Given the description of an element on the screen output the (x, y) to click on. 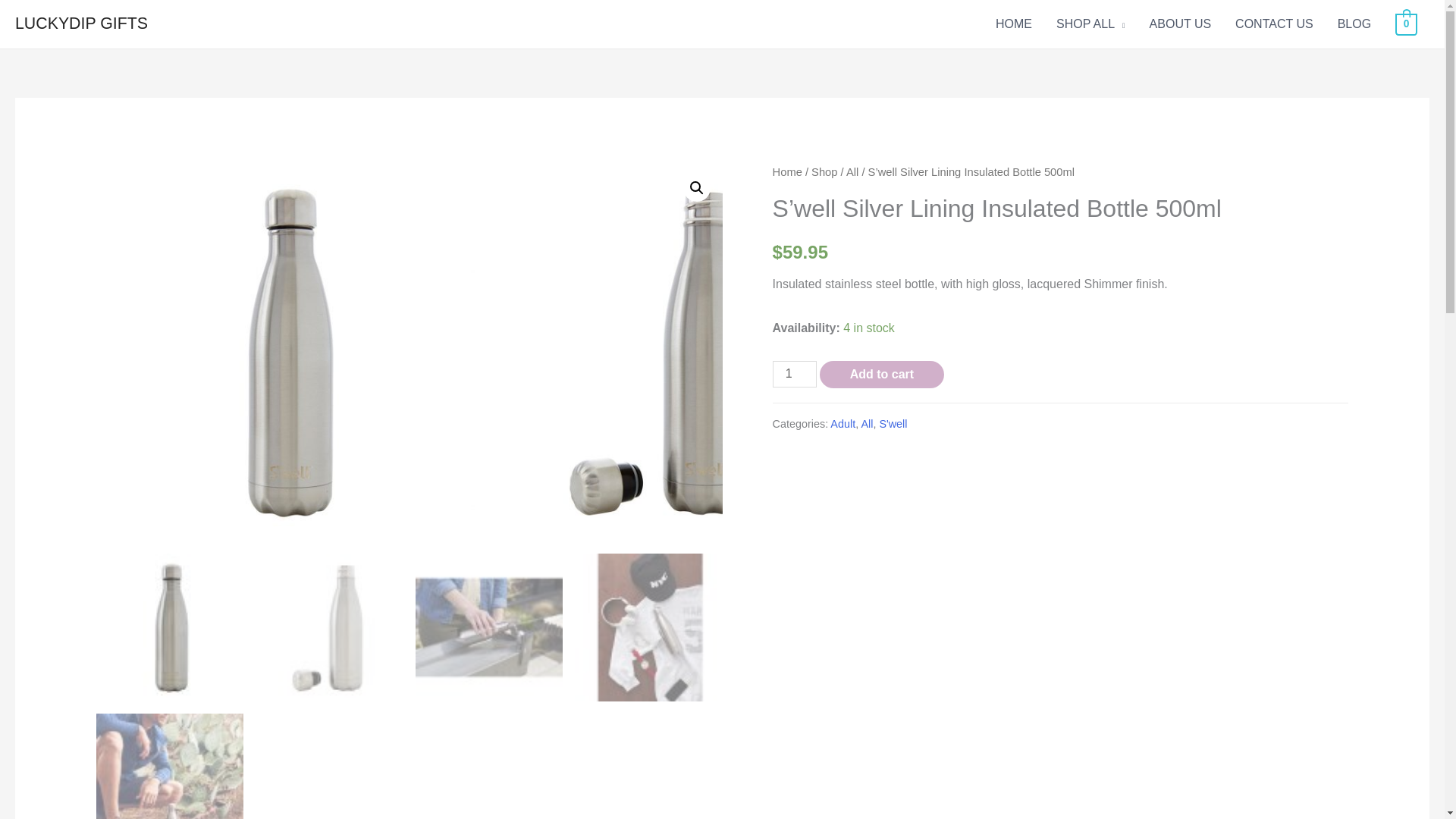
0 (1405, 23)
Home (787, 172)
ABOUT US (1180, 24)
All (852, 172)
S'well (893, 423)
View your shopping cart (1405, 23)
LUCKYDIP GIFTS (81, 23)
1 (794, 374)
All (866, 423)
BLOG (1353, 24)
Add to cart (881, 374)
Adult (842, 423)
HOME (1013, 24)
SHOP ALL (1090, 24)
Shop (823, 172)
